Given the description of an element on the screen output the (x, y) to click on. 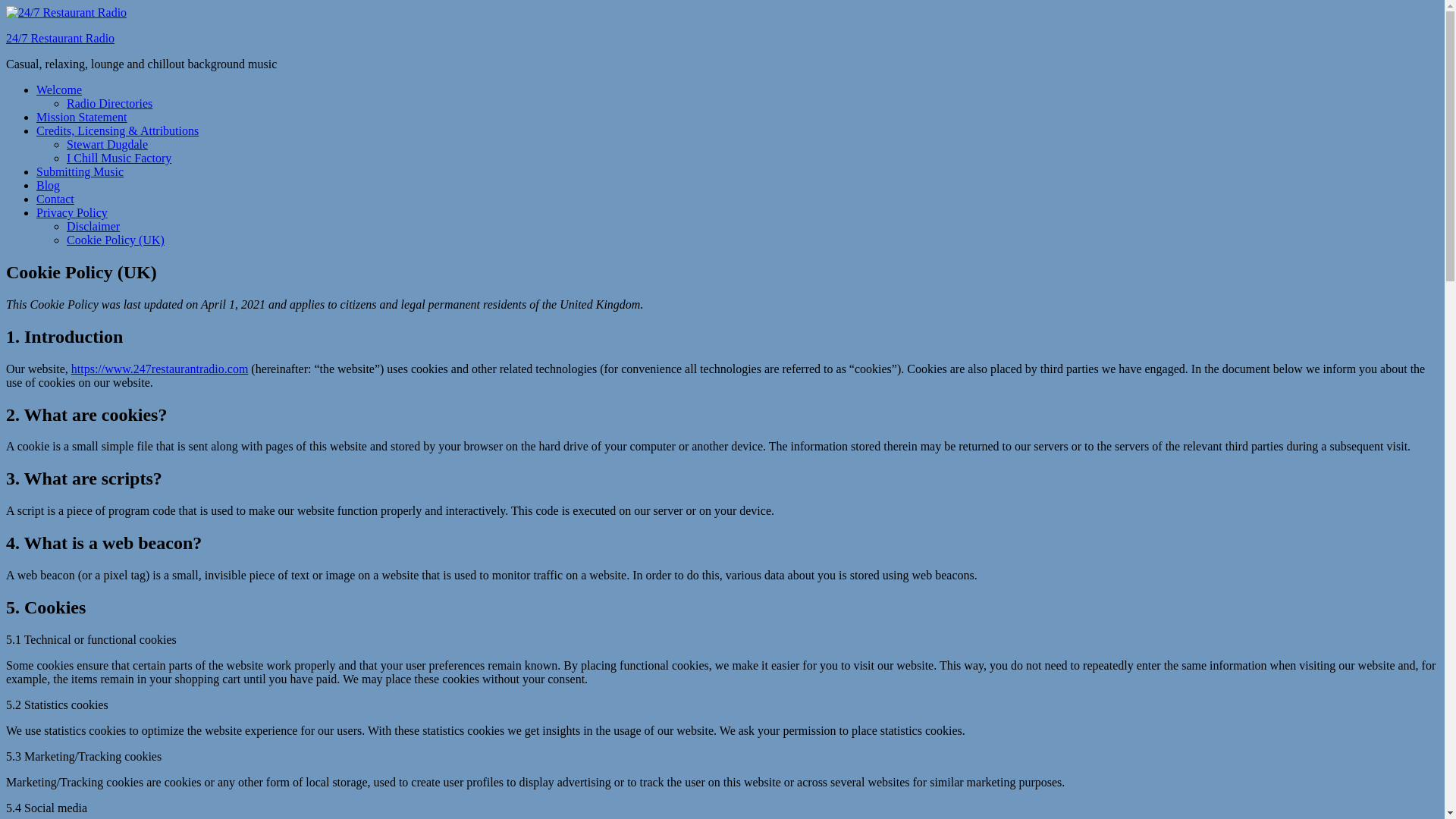
Submitting Music Element type: text (79, 171)
Skip to content Element type: text (5, 5)
I Chill Music Factory Element type: text (118, 157)
Cookie Policy (UK) Element type: text (115, 239)
24/7 Restaurant Radio Element type: text (60, 37)
Blog Element type: text (47, 184)
Credits, Licensing & Attributions Element type: text (117, 130)
Privacy Policy Element type: text (71, 212)
Mission Statement Element type: text (81, 116)
Radio Directories Element type: text (109, 103)
https://www.247restaurantradio.com Element type: text (159, 368)
Welcome Element type: text (58, 89)
Contact Element type: text (55, 198)
Disclaimer Element type: text (92, 225)
Stewart Dugdale Element type: text (106, 144)
